Given the description of an element on the screen output the (x, y) to click on. 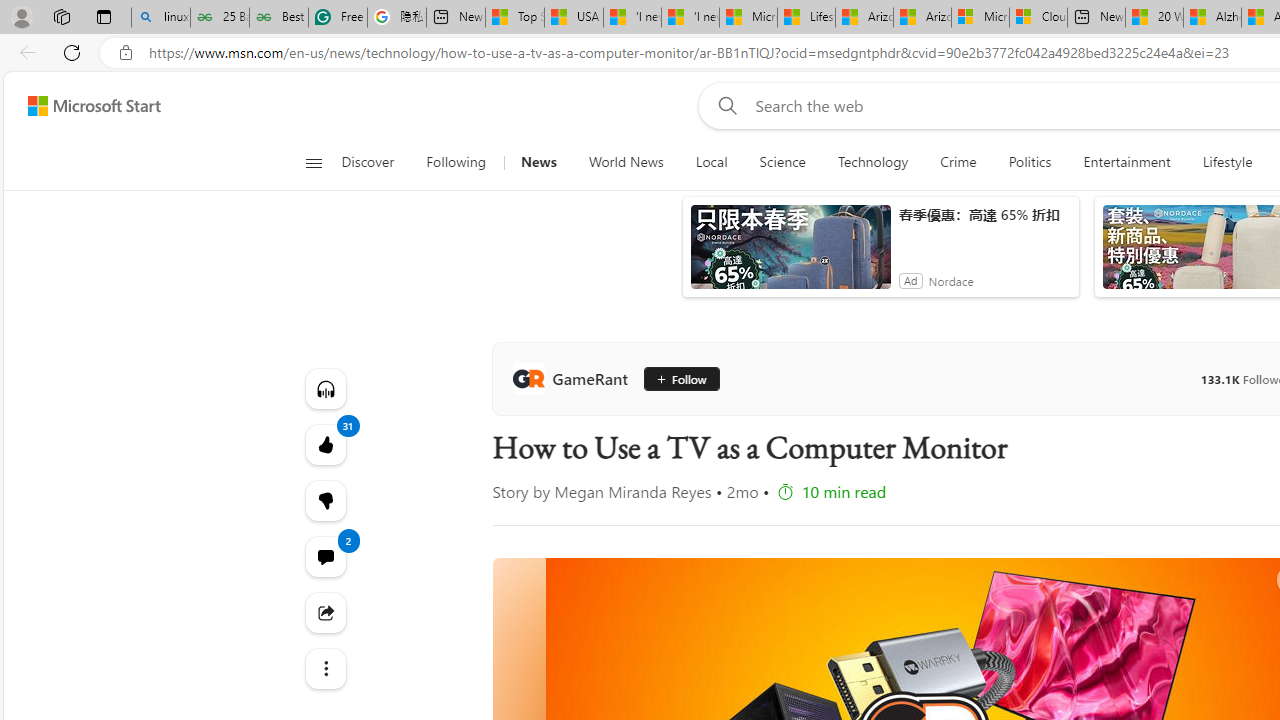
Technology (872, 162)
World News (625, 162)
Entertainment (1126, 162)
Following (456, 162)
GameRant (574, 378)
Class: at-item (324, 668)
Follow (680, 378)
Discover (367, 162)
Politics (1029, 162)
Top Stories - MSN (514, 17)
Politics (1030, 162)
Web search (724, 105)
Crime (958, 162)
